Given the description of an element on the screen output the (x, y) to click on. 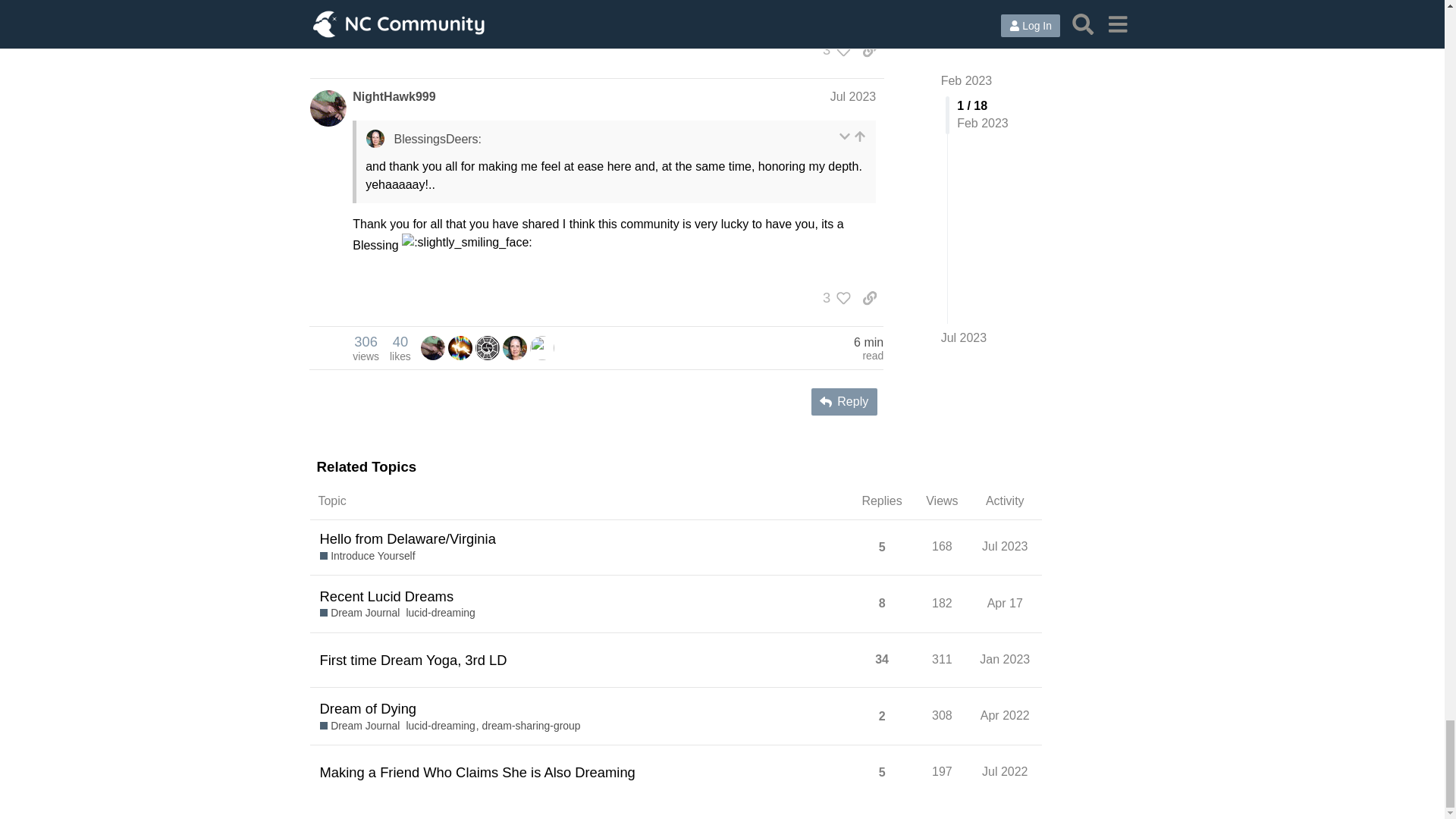
Amy Rittenhouse (366, 347)
DreamingFromHere (541, 347)
Vanda Pereira (541, 347)
NightHawk999 (514, 347)
Matthew Bready (432, 347)
mbready (459, 347)
BlessingsDeers (459, 347)
